Given the description of an element on the screen output the (x, y) to click on. 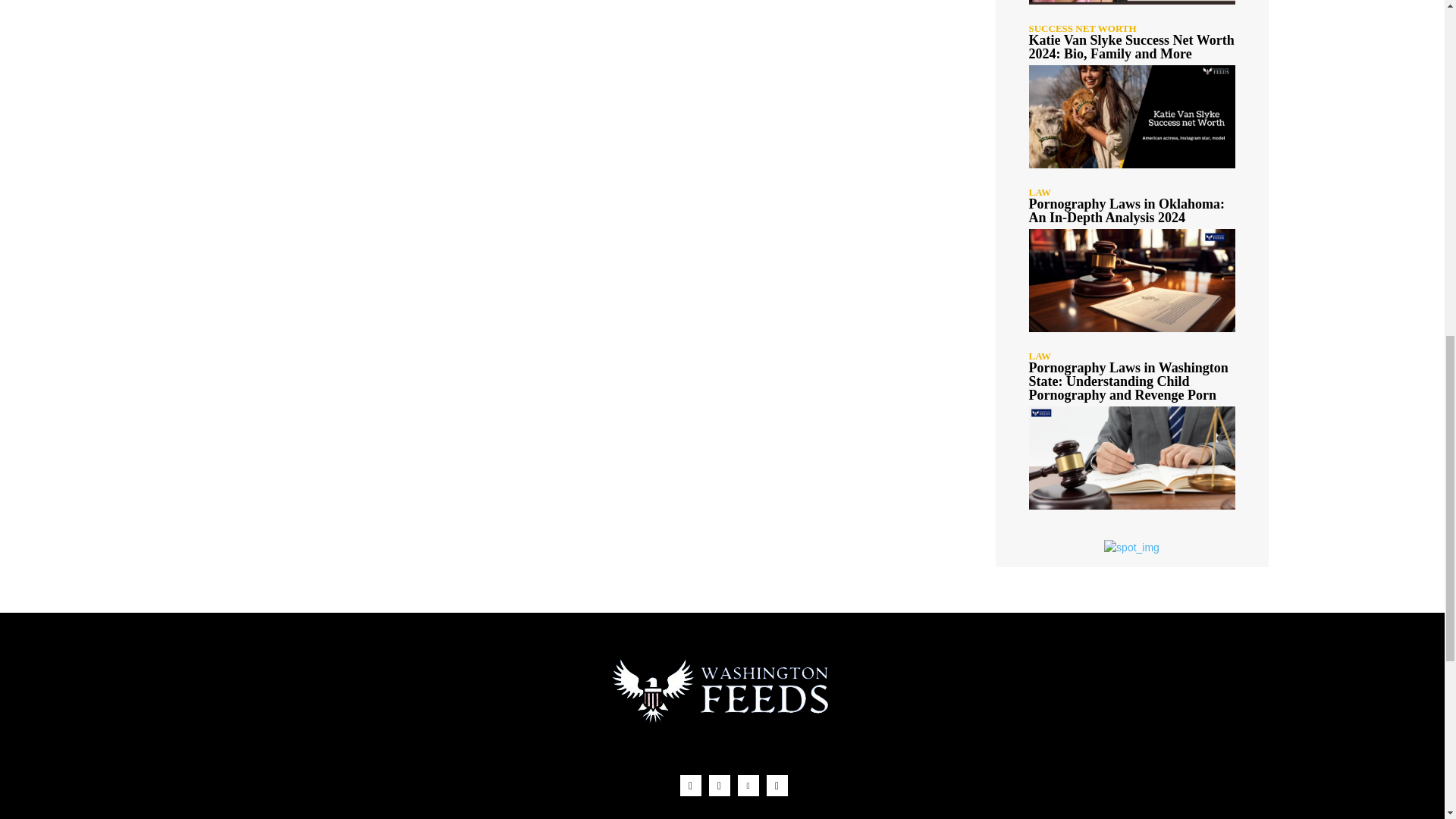
Katie Van Slyke Success Net Worth 2024: Bio, Family and More (1130, 46)
Katie Van Slyke Success Net Worth 2024: Bio, Family and More (1130, 116)
Pornography Laws in Oklahoma: An In-Depth Analysis 2024 (1125, 210)
Suki Sin Bio, Wiki, and Net Worth Insights for 2024 (1130, 2)
Pornography Laws in Oklahoma: An In-Depth Analysis 2024 (1130, 280)
